Given the description of an element on the screen output the (x, y) to click on. 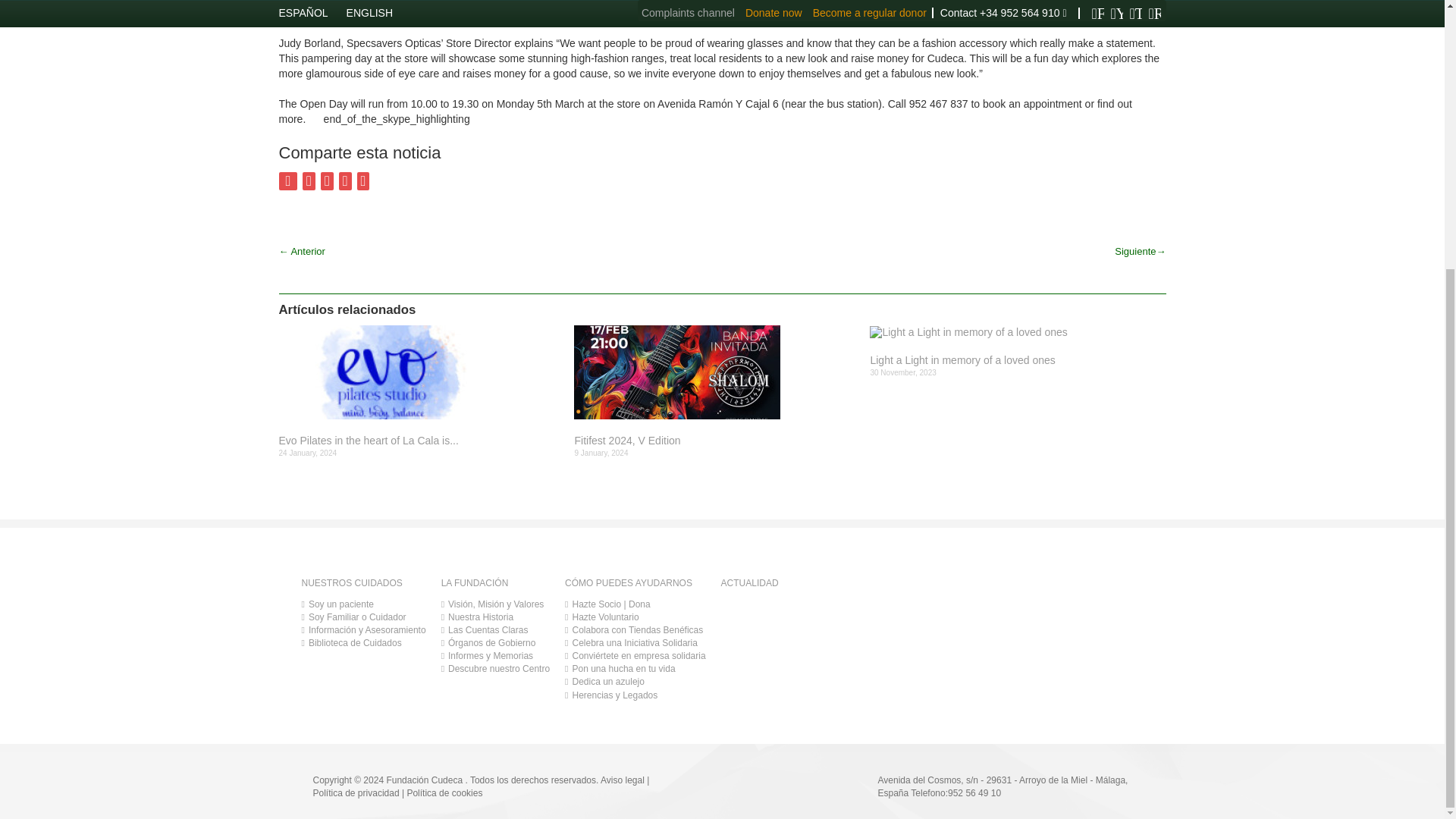
Enlace a Fitifest 2024, V Edition (716, 440)
Siguiente (1145, 274)
Enlace a Light a Light in memory of a loved ones (1011, 332)
Fitifest 2024, V Edition (716, 440)
Evo Pilates in the heart of La Cala is... (421, 440)
Compartir en Facebook (288, 180)
Enlace a Light a Light in memory of a loved ones (1011, 359)
